Given the description of an element on the screen output the (x, y) to click on. 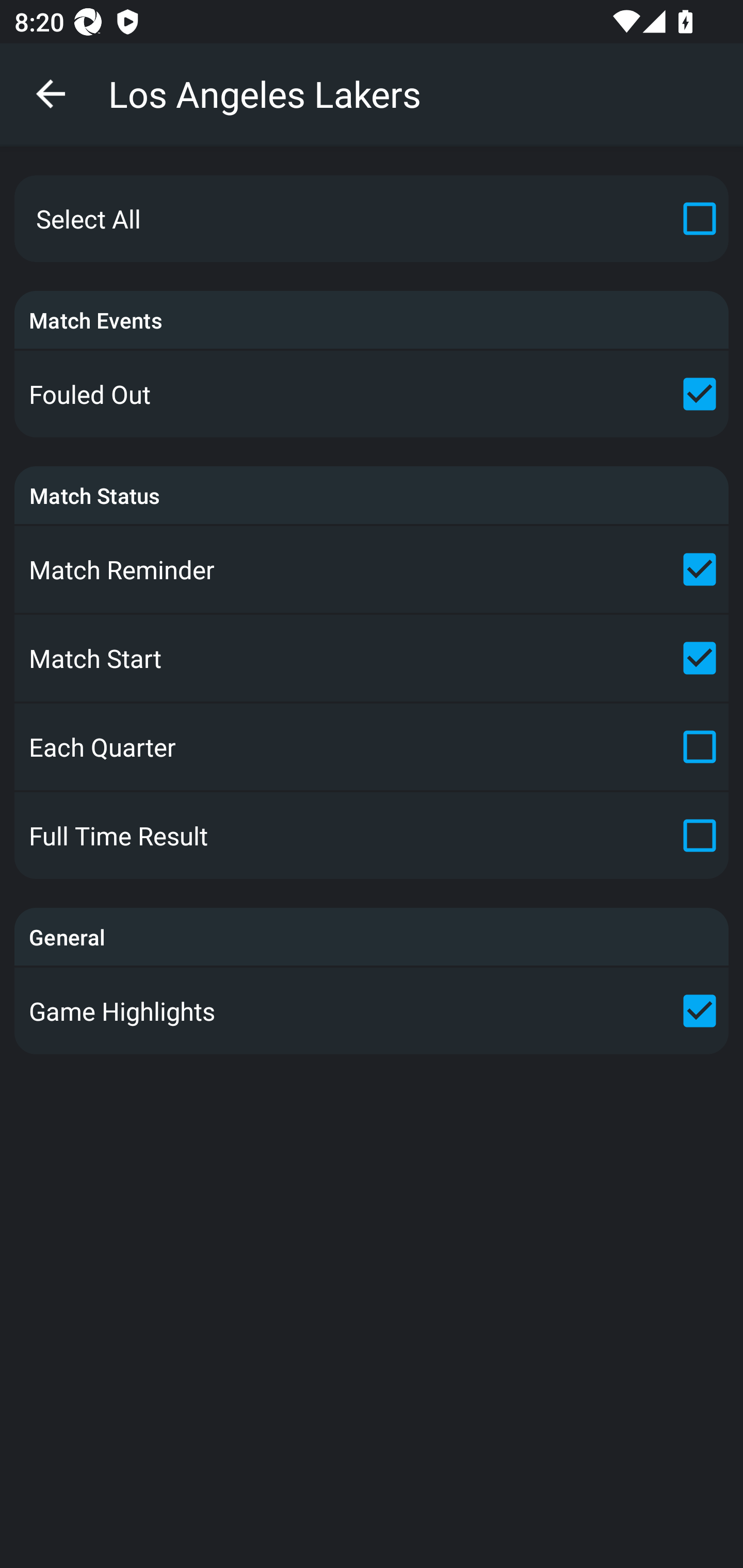
Navigate up (50, 93)
Fouled Out (371, 394)
Match Reminder (371, 569)
Match Start (371, 657)
Each Quarter (371, 747)
Full Time Result (371, 835)
Game Highlights (371, 1010)
